Given the description of an element on the screen output the (x, y) to click on. 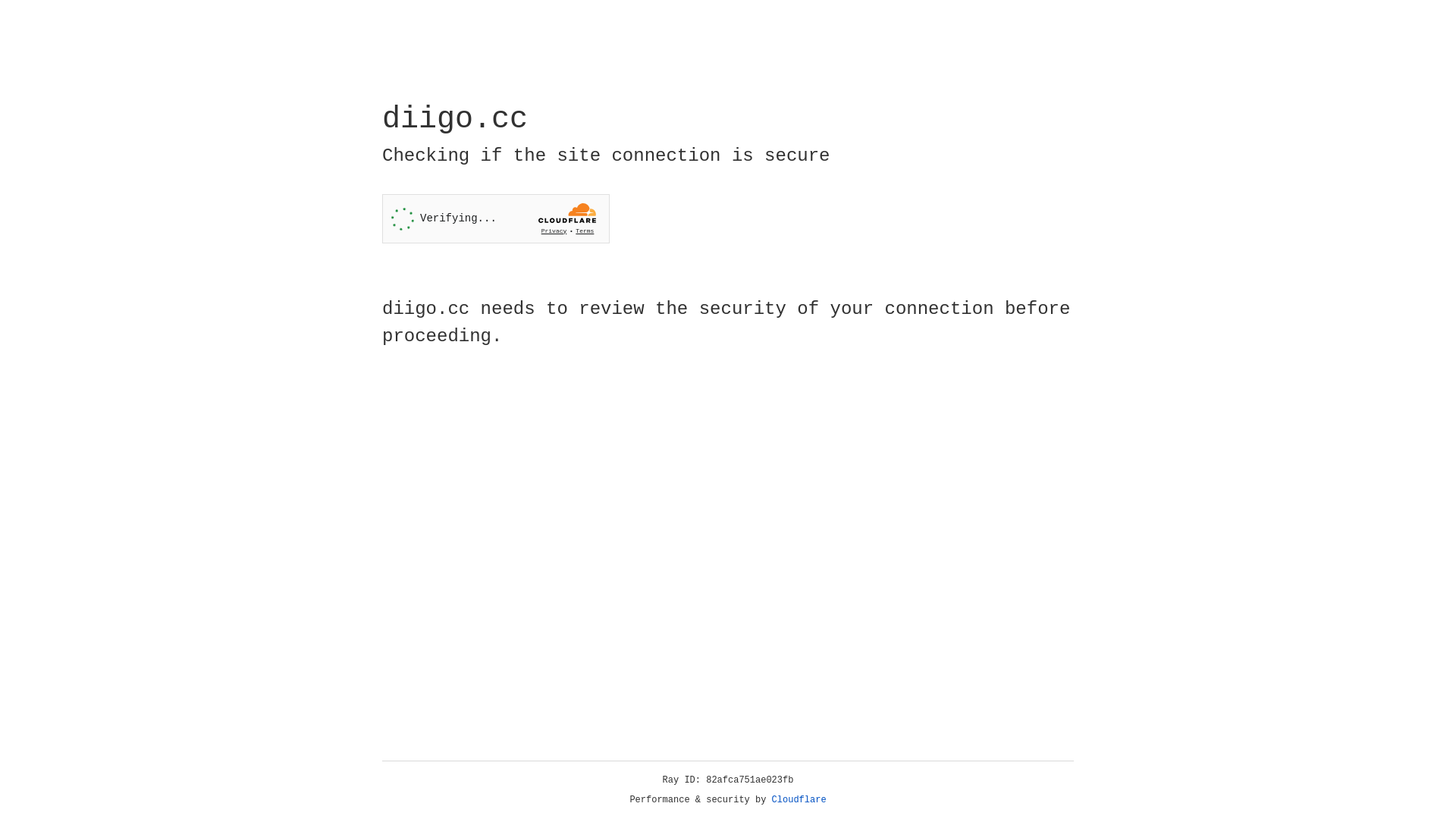
Widget containing a Cloudflare security challenge Element type: hover (495, 218)
Cloudflare Element type: text (798, 799)
